Given the description of an element on the screen output the (x, y) to click on. 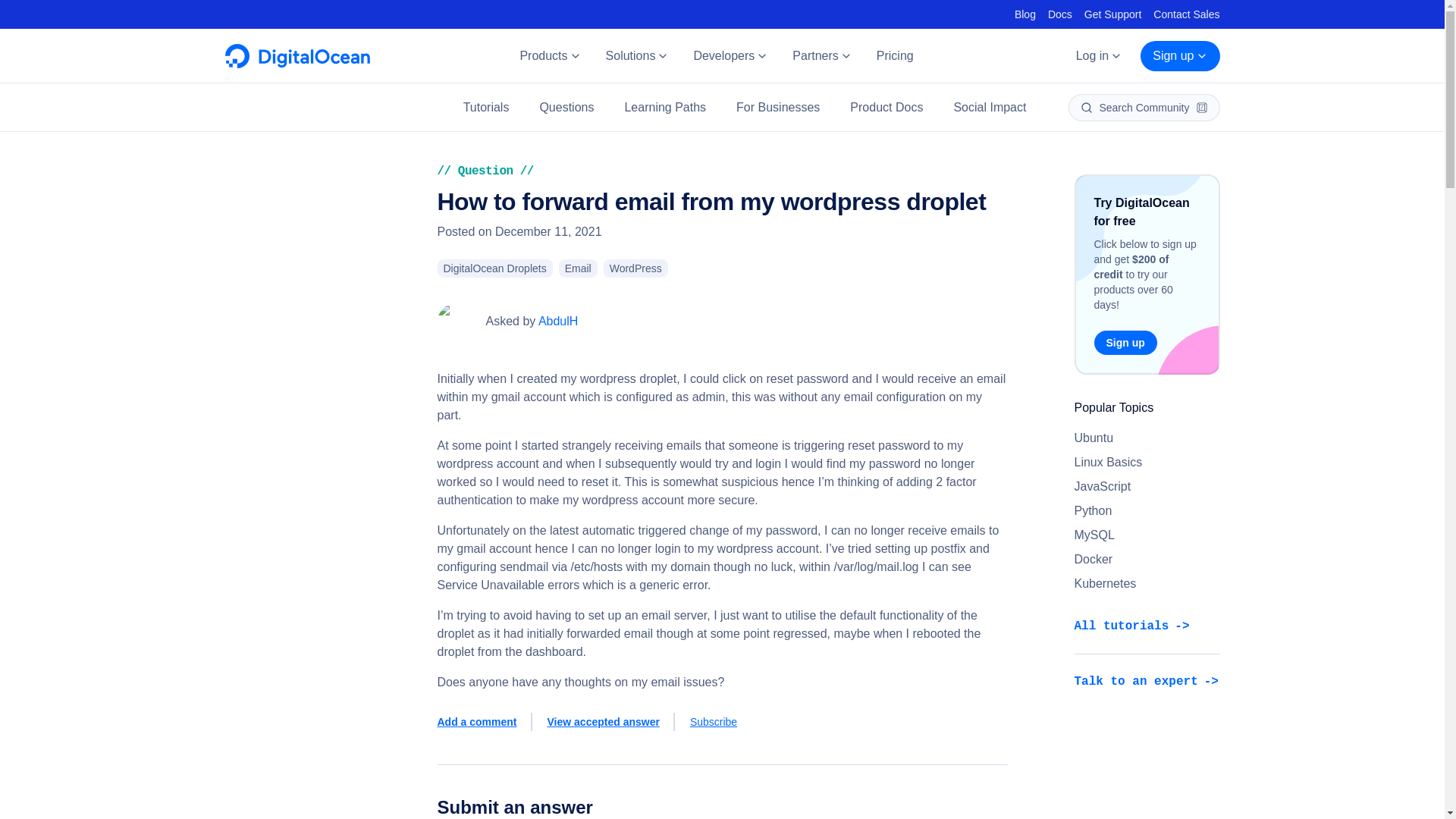
DigitalOcean (296, 63)
Get Support (1112, 14)
View accepted answer (611, 721)
Contact Sales (1186, 14)
Blog (1024, 14)
Products (549, 55)
Email (577, 268)
DigitalOcean Droplets (493, 268)
WordPress (636, 268)
Docs (1059, 14)
